Given the description of an element on the screen output the (x, y) to click on. 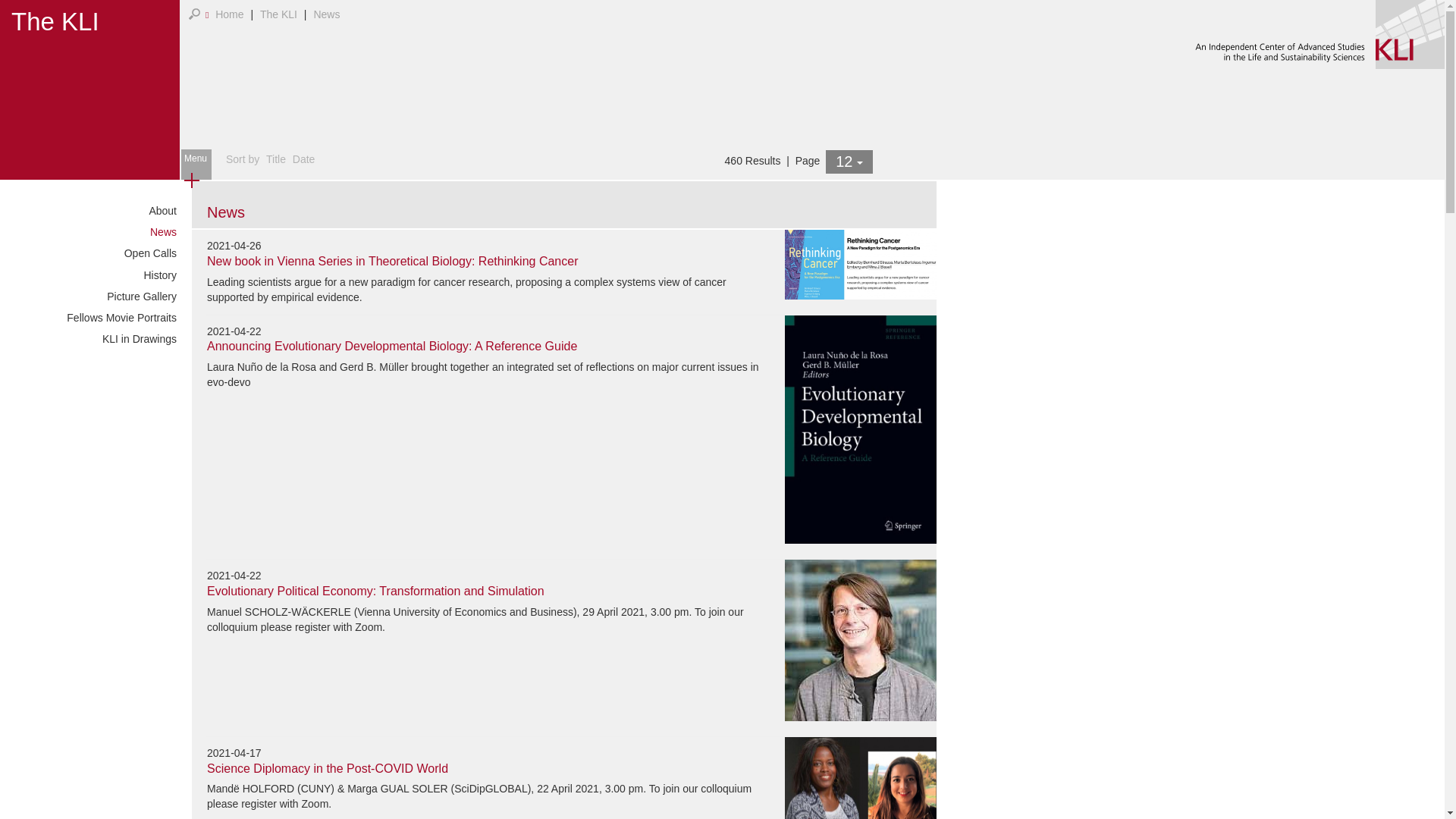
Title (275, 159)
News (326, 14)
Home (229, 14)
Menu (195, 164)
Date (303, 159)
12 (848, 161)
The KLI (278, 14)
